Given the description of an element on the screen output the (x, y) to click on. 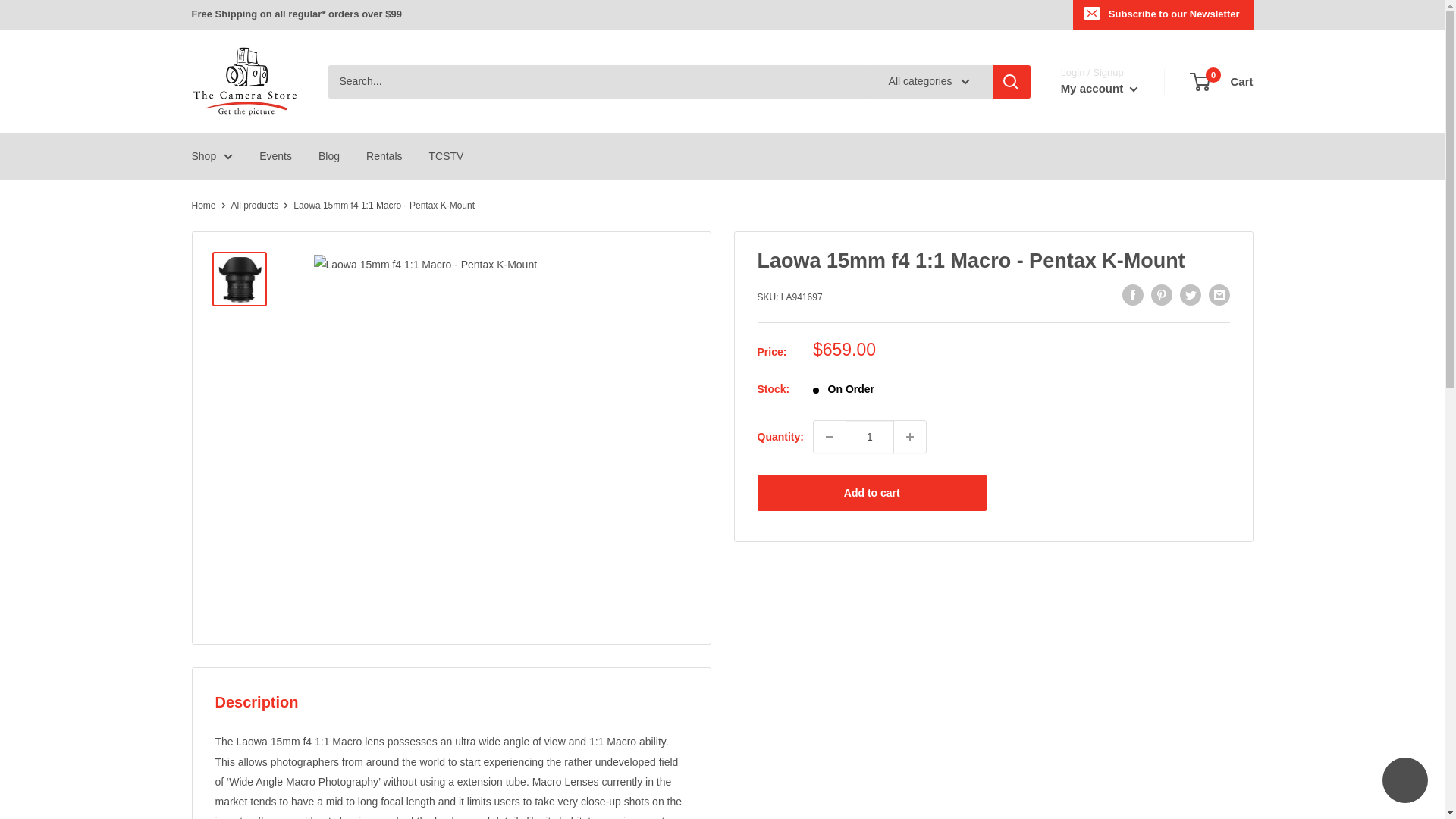
Increase quantity by 1 (909, 436)
1 (869, 436)
Subscribe to our Newsletter (1163, 14)
Shopify online store chat (1404, 781)
Decrease quantity by 1 (829, 436)
